Given the description of an element on the screen output the (x, y) to click on. 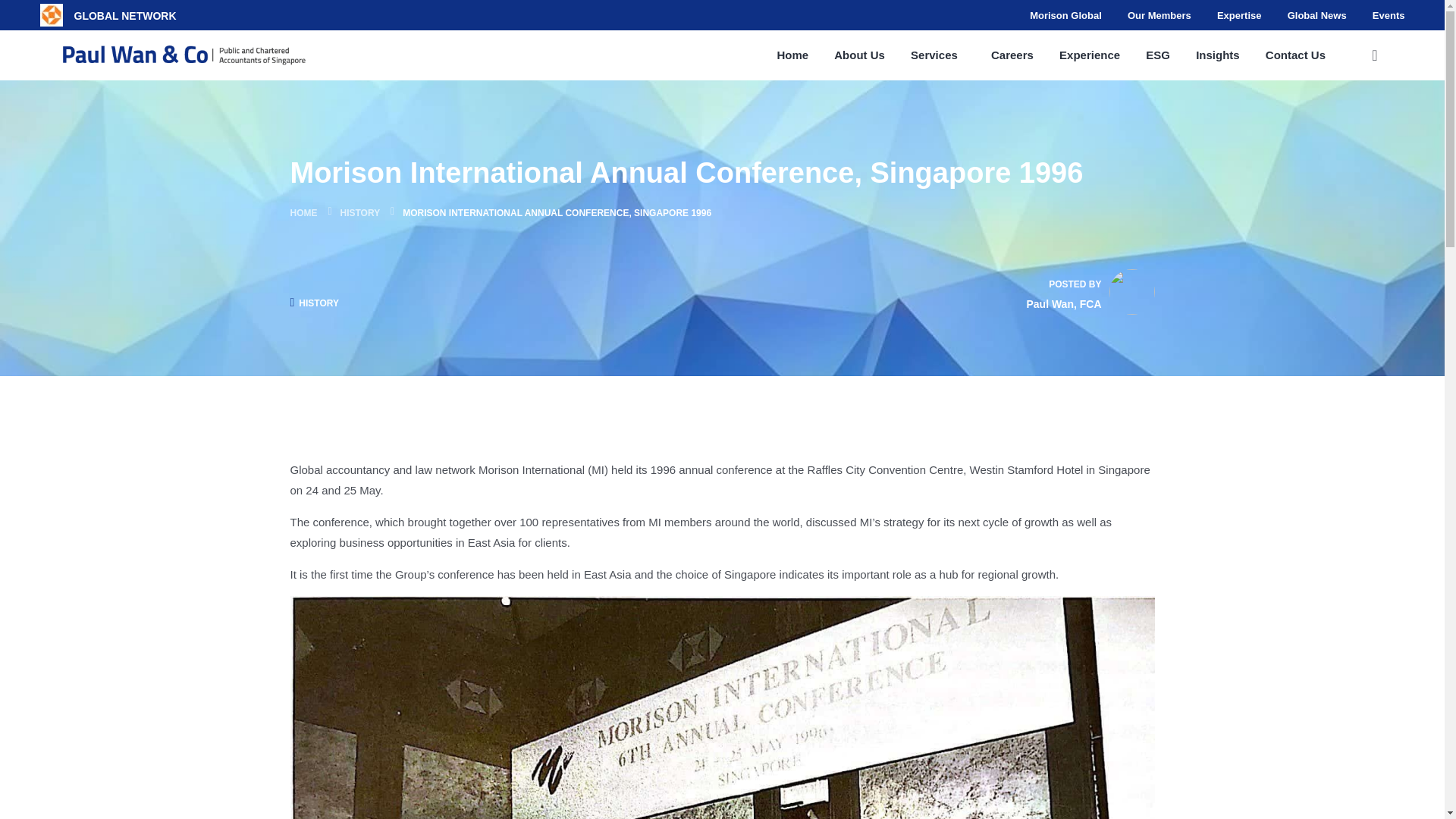
Expertise (1239, 15)
Morison Global (1065, 15)
Services (934, 55)
ESG (1157, 55)
Contact Us (1294, 55)
Experience (1089, 55)
About Us (859, 55)
Events (1389, 15)
Home (792, 55)
Our Members (1158, 15)
Insights (1217, 55)
favicon (50, 15)
Careers (1012, 55)
Global News (1316, 15)
